Given the description of an element on the screen output the (x, y) to click on. 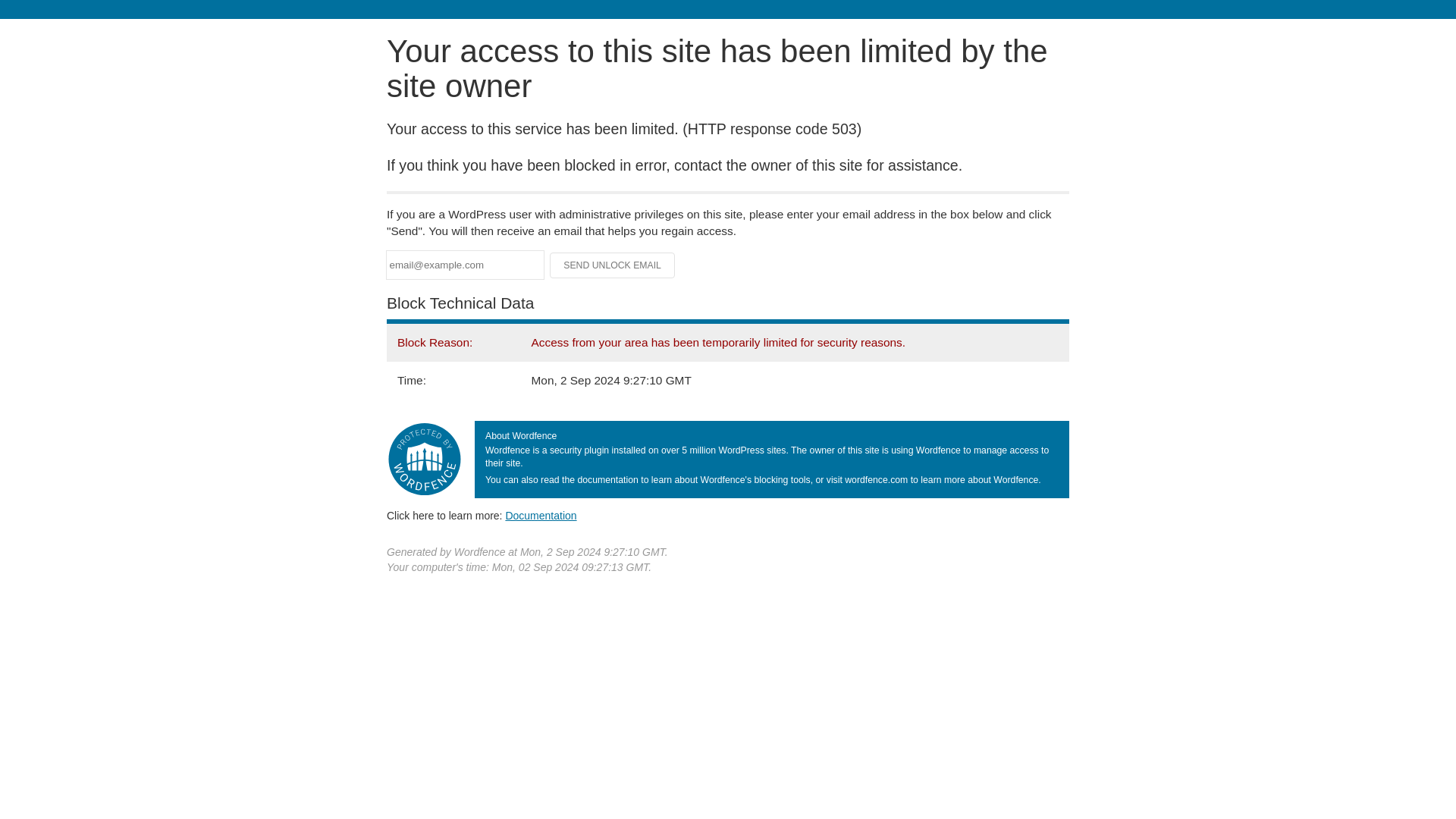
Documentation (540, 515)
Send Unlock Email (612, 265)
Send Unlock Email (612, 265)
